Given the description of an element on the screen output the (x, y) to click on. 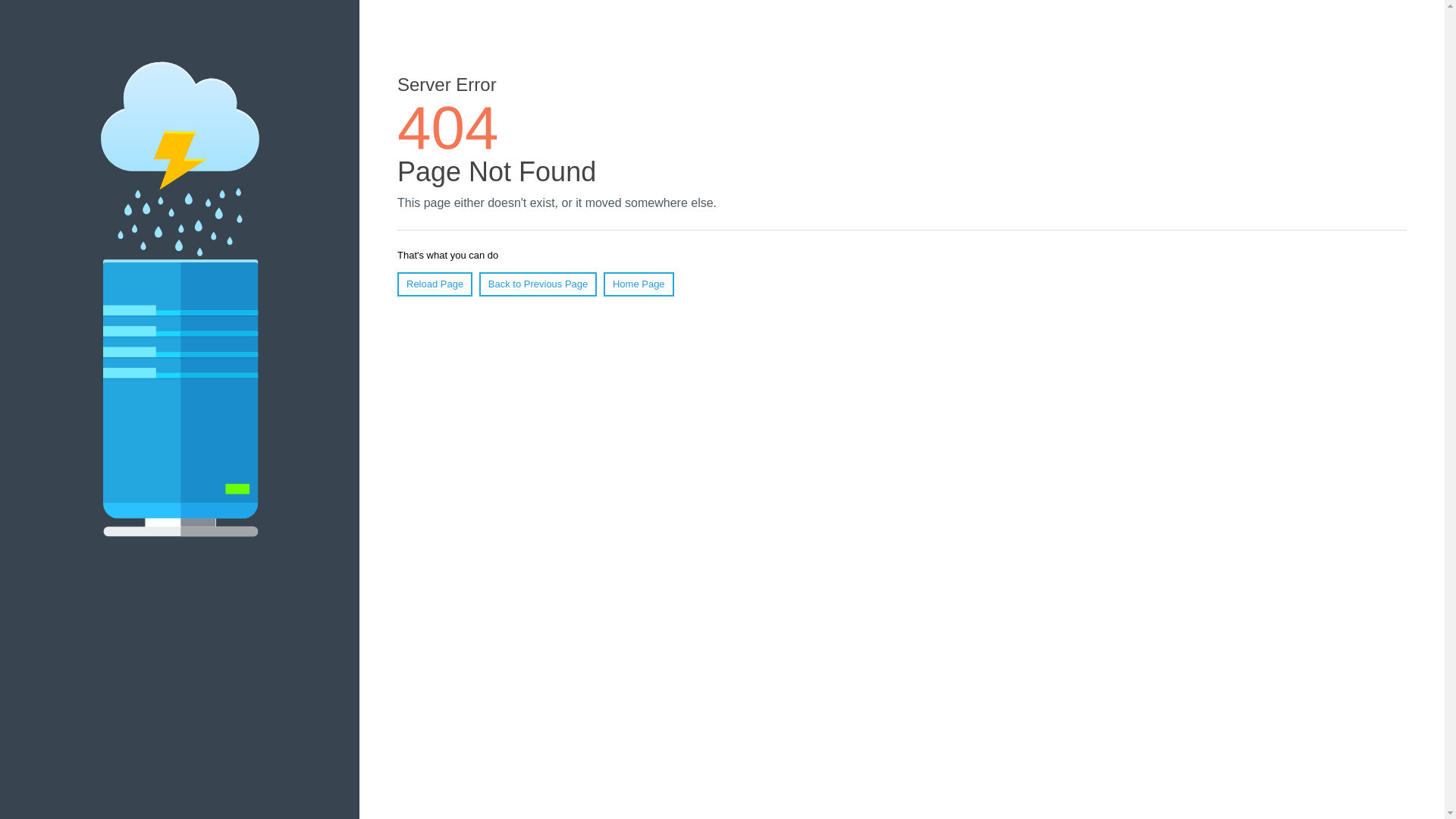
Back to Previous Page Element type: text (538, 284)
Home Page Element type: text (638, 284)
Reload Page Element type: text (434, 284)
